Given the description of an element on the screen output the (x, y) to click on. 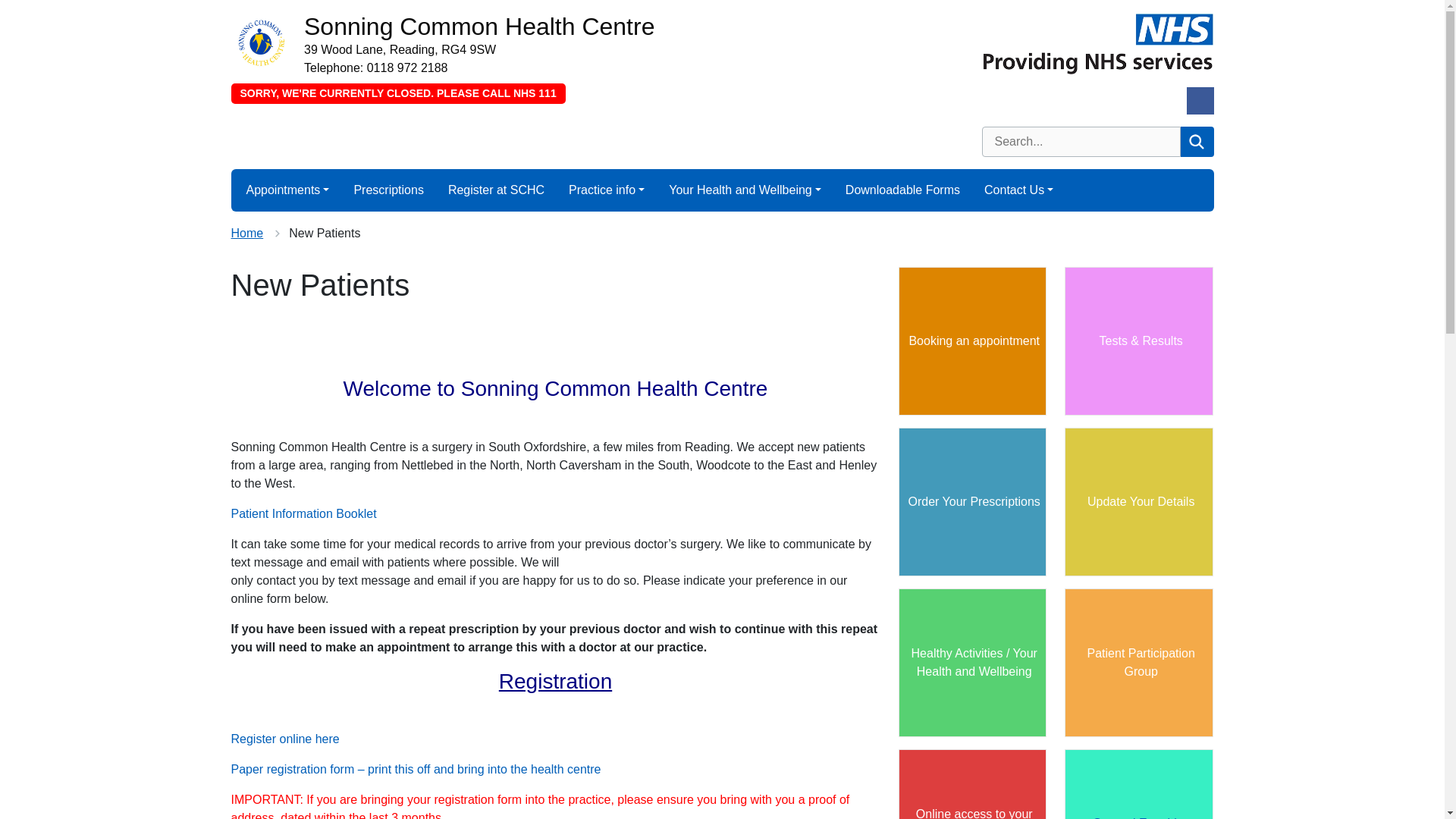
Prescriptions (388, 190)
Patient Information Booklet (302, 513)
Home (246, 232)
Register online here (284, 738)
Practice info (606, 190)
Your Health and Wellbeing (744, 190)
Home (246, 232)
Search for: (1080, 141)
Contact Us (1018, 190)
Search (1195, 141)
